Given the description of an element on the screen output the (x, y) to click on. 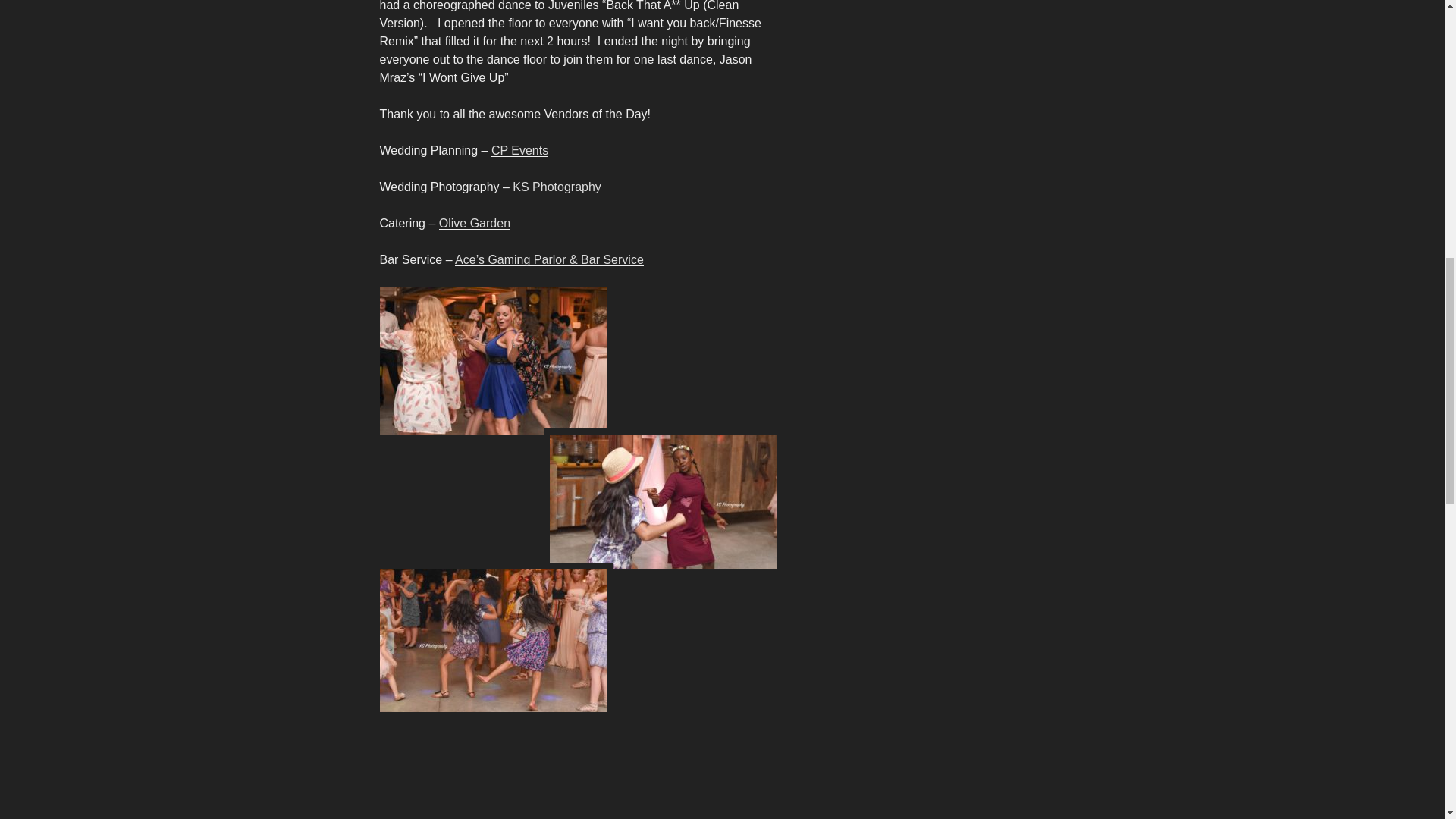
CP Events (520, 150)
KS Photography (556, 186)
Olive Garden (475, 223)
